Given the description of an element on the screen output the (x, y) to click on. 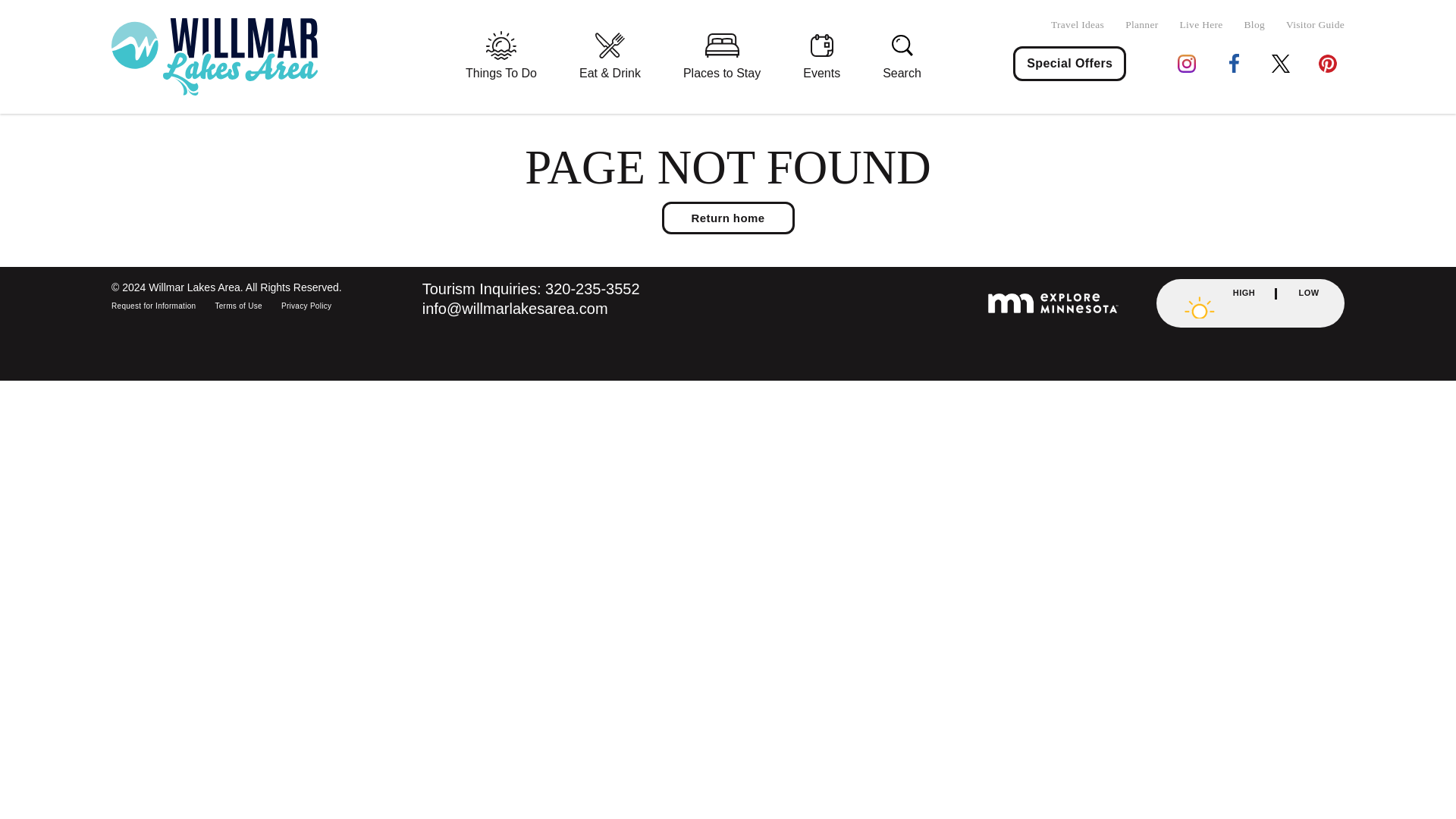
Search (901, 58)
Events (820, 58)
Places to Stay (721, 58)
Things To Do (501, 58)
